Given the description of an element on the screen output the (x, y) to click on. 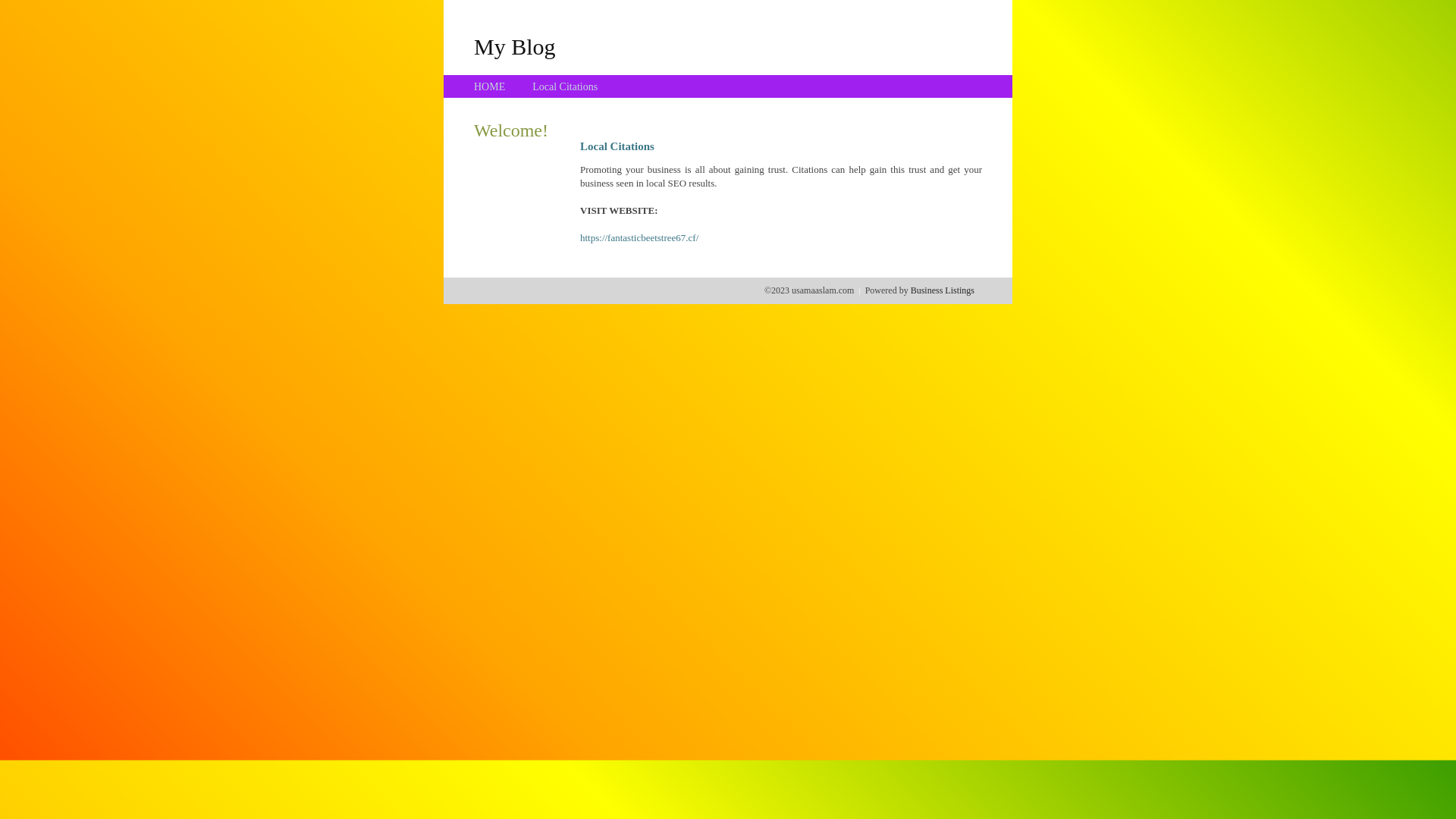
Business Listings Element type: text (942, 290)
HOME Element type: text (489, 86)
Local Citations Element type: text (564, 86)
My Blog Element type: text (514, 46)
https://fantasticbeetstree67.cf/ Element type: text (639, 237)
